Given the description of an element on the screen output the (x, y) to click on. 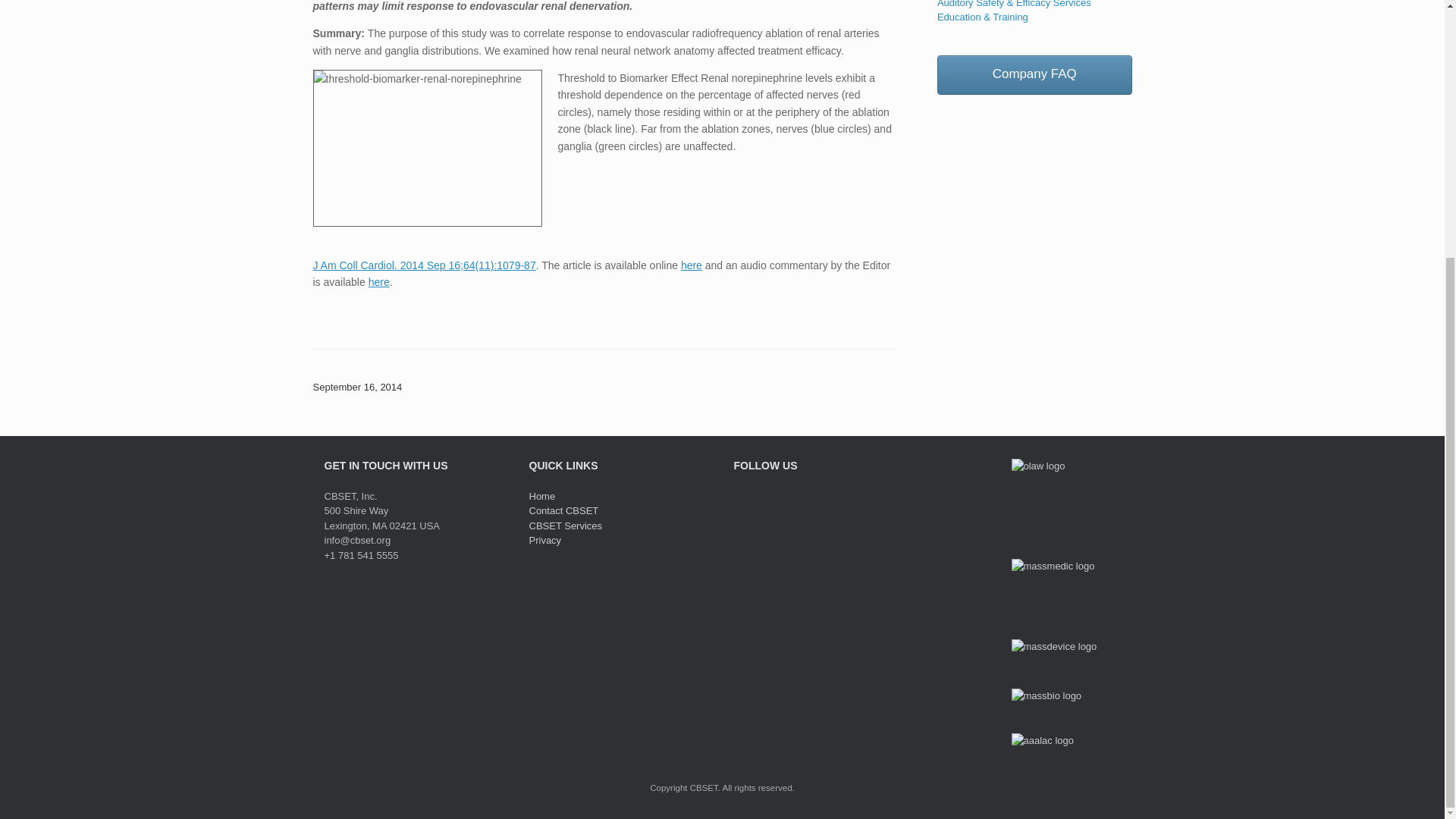
here (691, 265)
Home (542, 496)
Privacy (545, 540)
Company FAQ (1034, 75)
CBSET Services (565, 525)
here (379, 282)
Contact CBSET (563, 510)
